Given the description of an element on the screen output the (x, y) to click on. 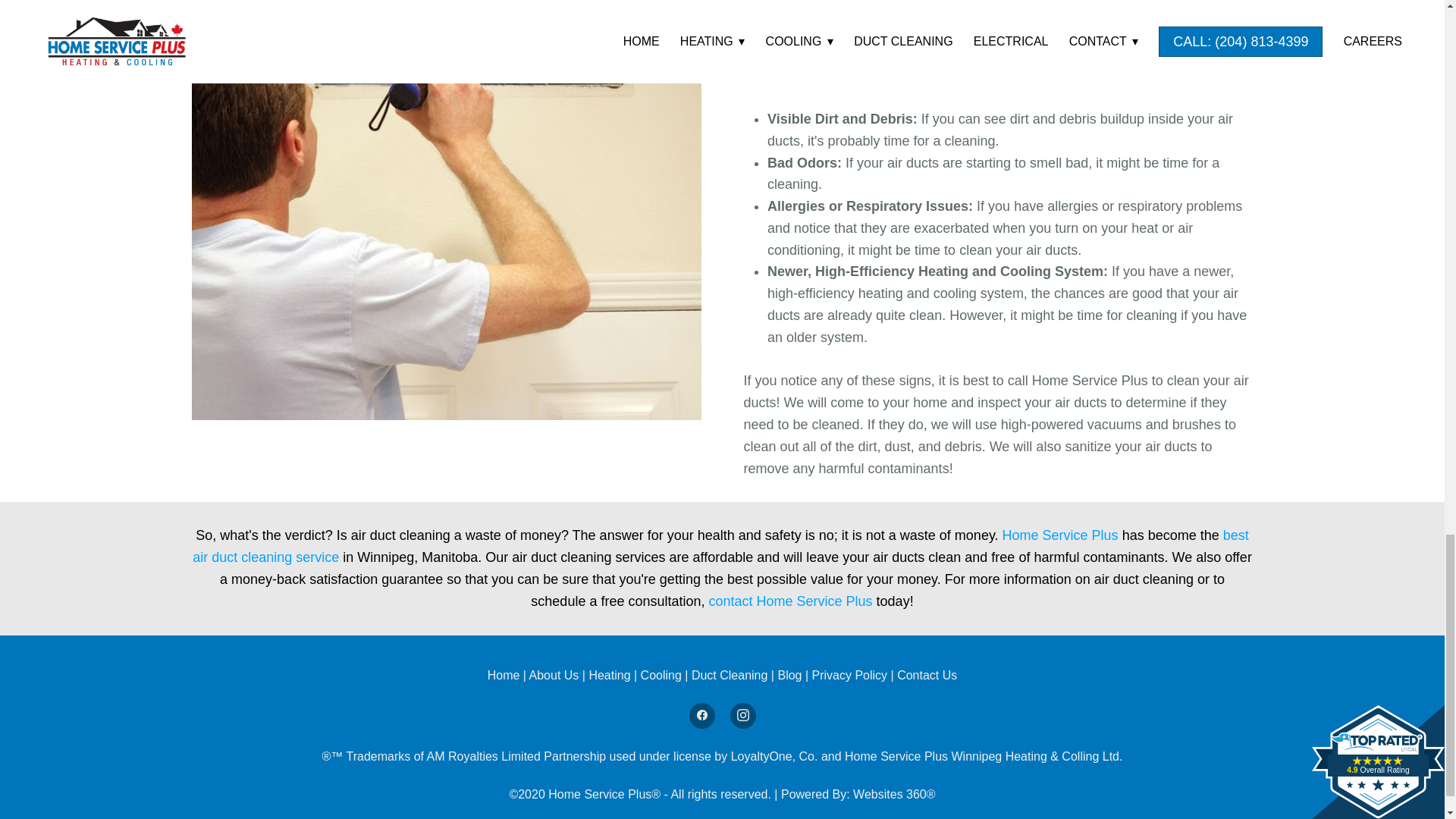
Blog (791, 675)
Cooling (662, 675)
Duct Cleaning (729, 675)
Contact Us (926, 675)
contact Home Service Plus (791, 601)
About Us (554, 675)
Home (504, 675)
Home Service Plus (1060, 534)
best air duct cleaning service (720, 546)
Privacy Policy (850, 675)
Heating (610, 675)
